Given the description of an element on the screen output the (x, y) to click on. 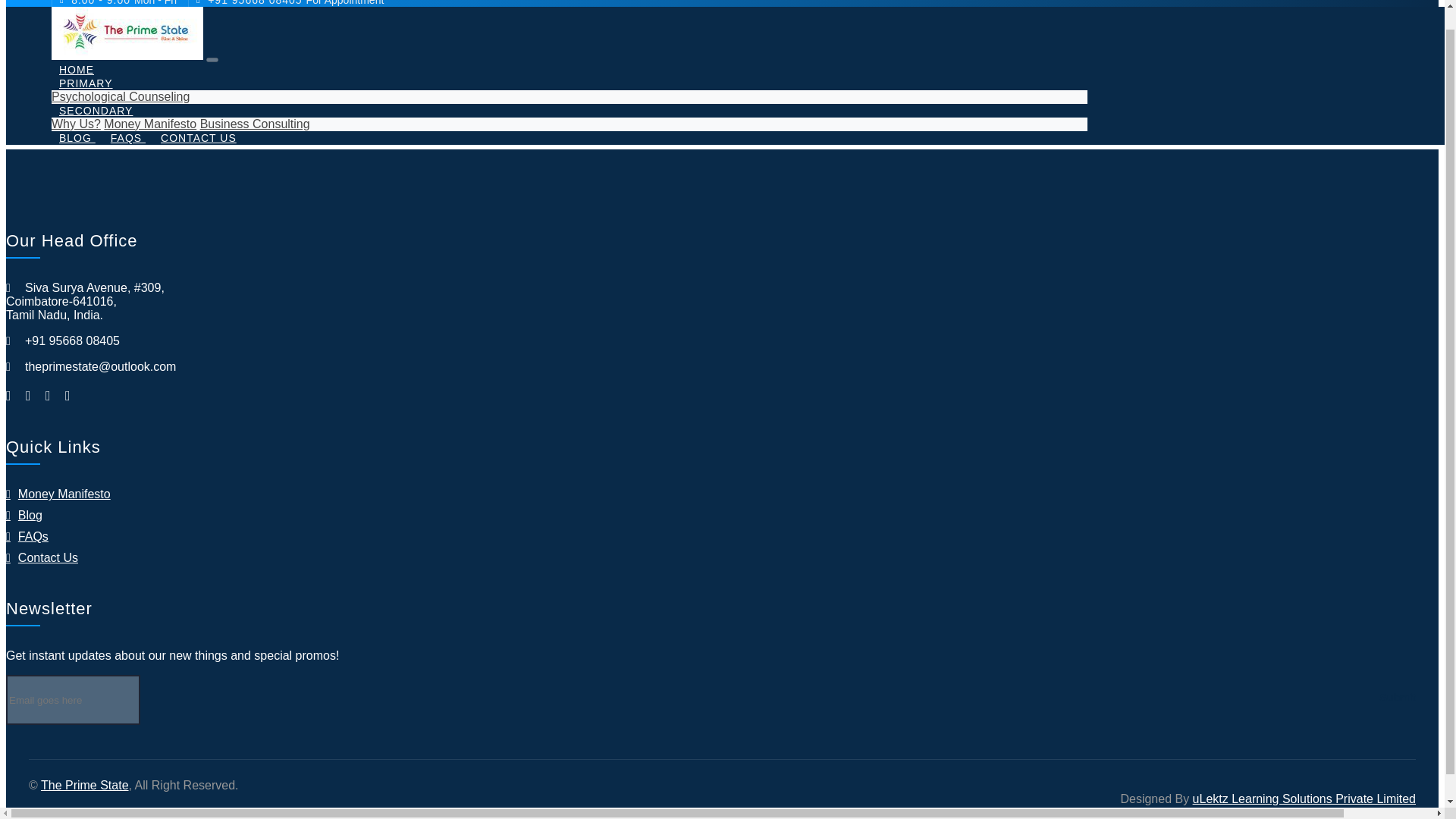
CONTACT US (198, 136)
Home (75, 68)
Psychological Counseling (119, 96)
PRIMARY (85, 82)
HOME (75, 68)
Secondary (94, 109)
Search (228, 107)
FAQs (127, 136)
Money Manifesto (149, 123)
uLektz Learning Solutions Private Limited (1303, 798)
Why Us? (75, 123)
Contact Us (198, 136)
FAQS (127, 136)
Blog (76, 136)
SECONDARY (94, 109)
